Given the description of an element on the screen output the (x, y) to click on. 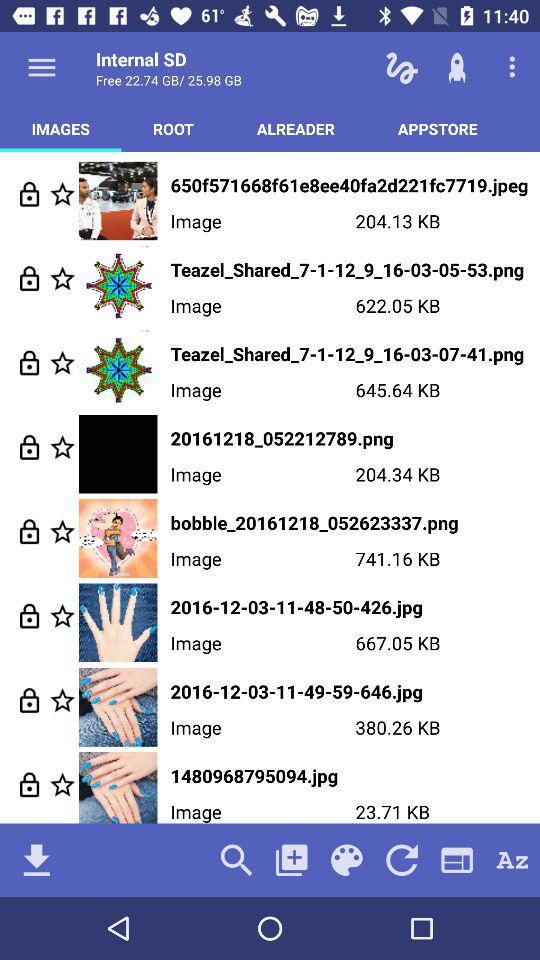
lock image (29, 278)
